Given the description of an element on the screen output the (x, y) to click on. 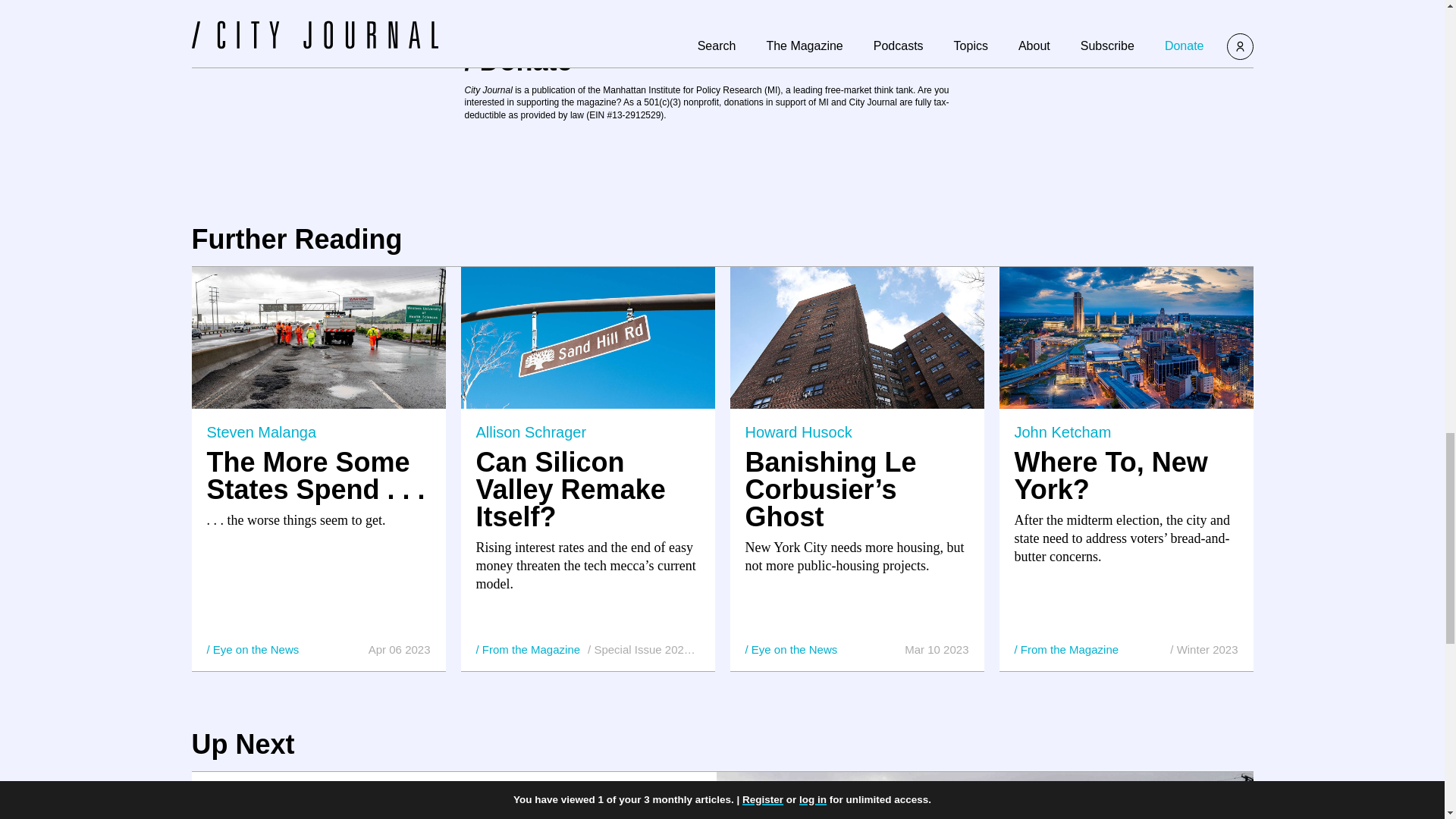
Special Issue 2023: Can California Be Golden Again? (643, 649)
Donate (518, 60)
Winter 2023 (1203, 649)
